Given the description of an element on the screen output the (x, y) to click on. 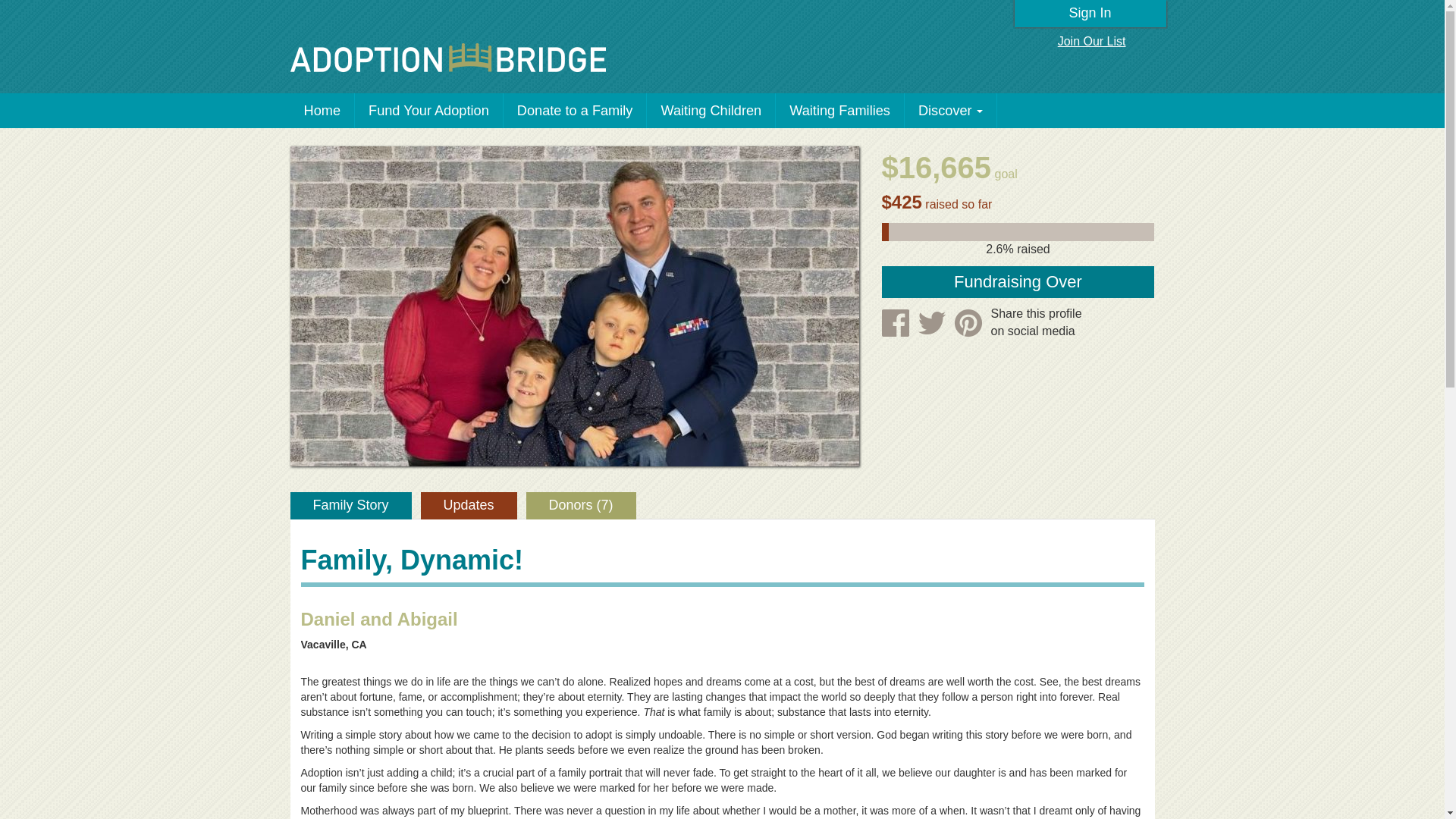
Donate to a Family (575, 110)
Waiting Children (711, 110)
Fundraising Over (1017, 281)
Sign In (1090, 13)
Discover (950, 110)
Waiting Families (840, 110)
Family Story (349, 505)
Return to Home Page (447, 57)
Home (322, 110)
Join Our List (1091, 41)
Fund Your Adoption (429, 110)
Updates (468, 505)
